Given the description of an element on the screen output the (x, y) to click on. 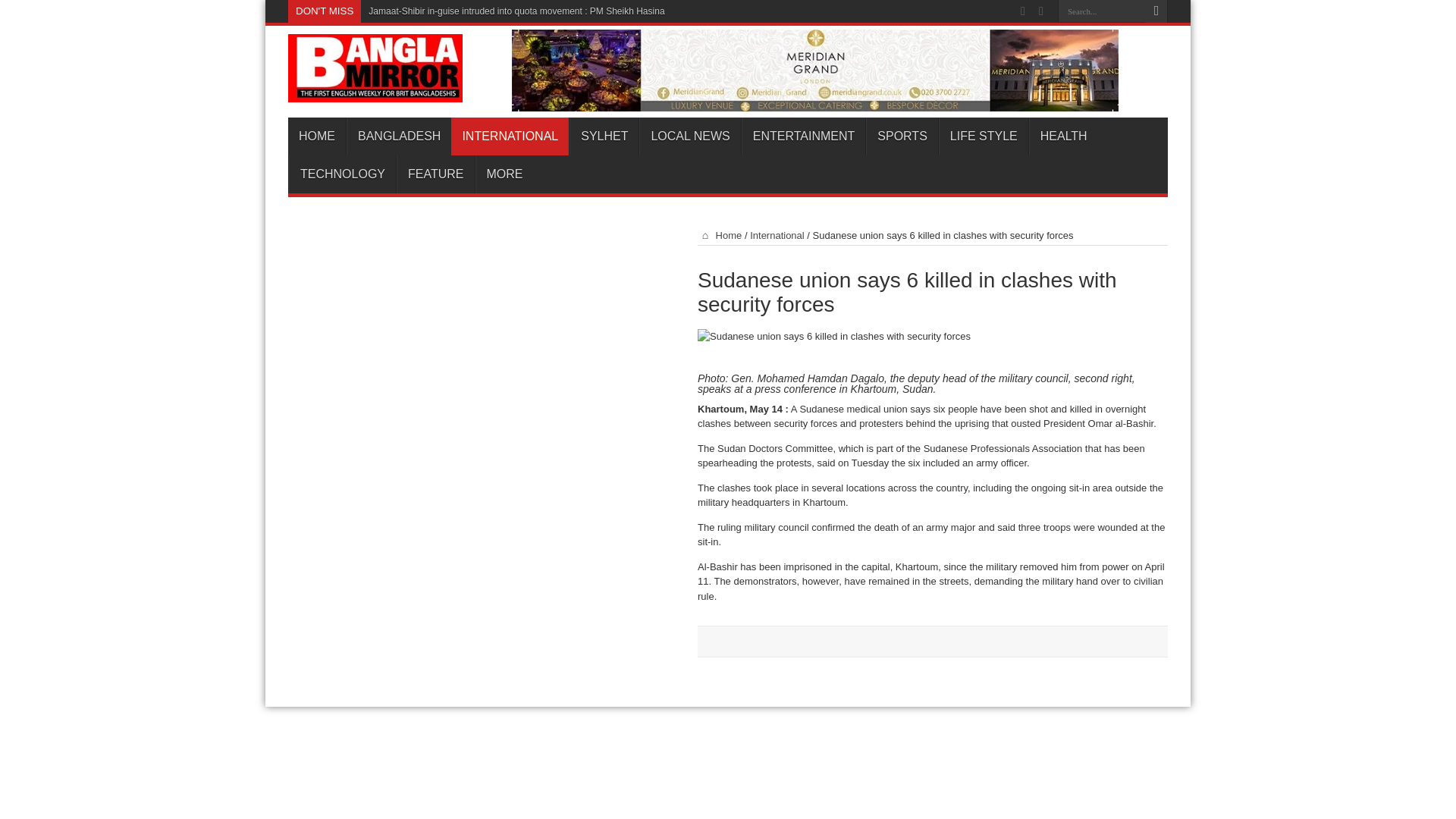
HEALTH (1063, 136)
TECHNOLOGY (342, 174)
LIFE STYLE (983, 136)
Rss (1022, 11)
FEATURE (435, 174)
MORE (503, 174)
Facebook (1040, 11)
Search (1155, 11)
Search... (1101, 11)
